Given the description of an element on the screen output the (x, y) to click on. 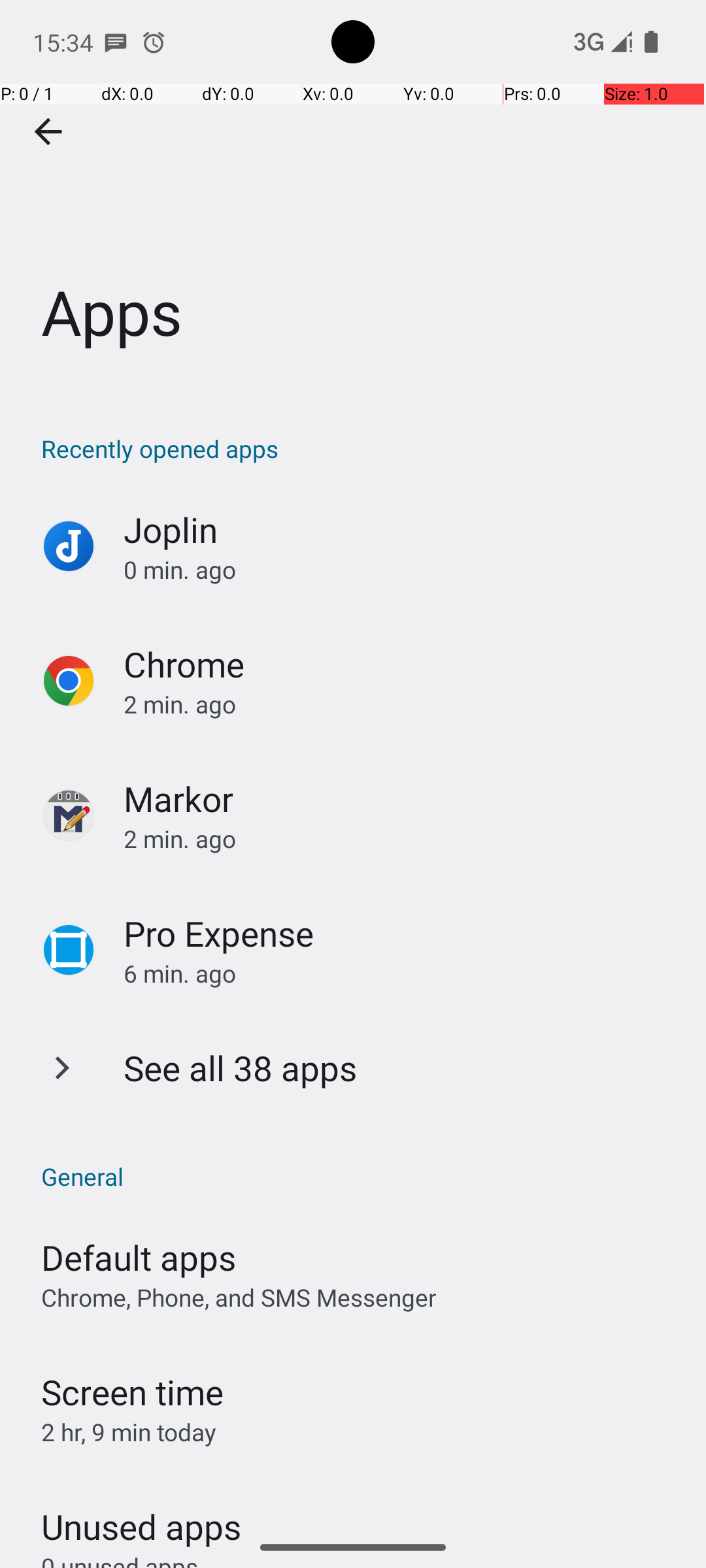
6 min. ago Element type: android.widget.TextView (400, 972)
See all 38 apps Element type: android.widget.TextView (239, 1067)
2 hr, 9 min today Element type: android.widget.TextView (129, 1431)
